Given the description of an element on the screen output the (x, y) to click on. 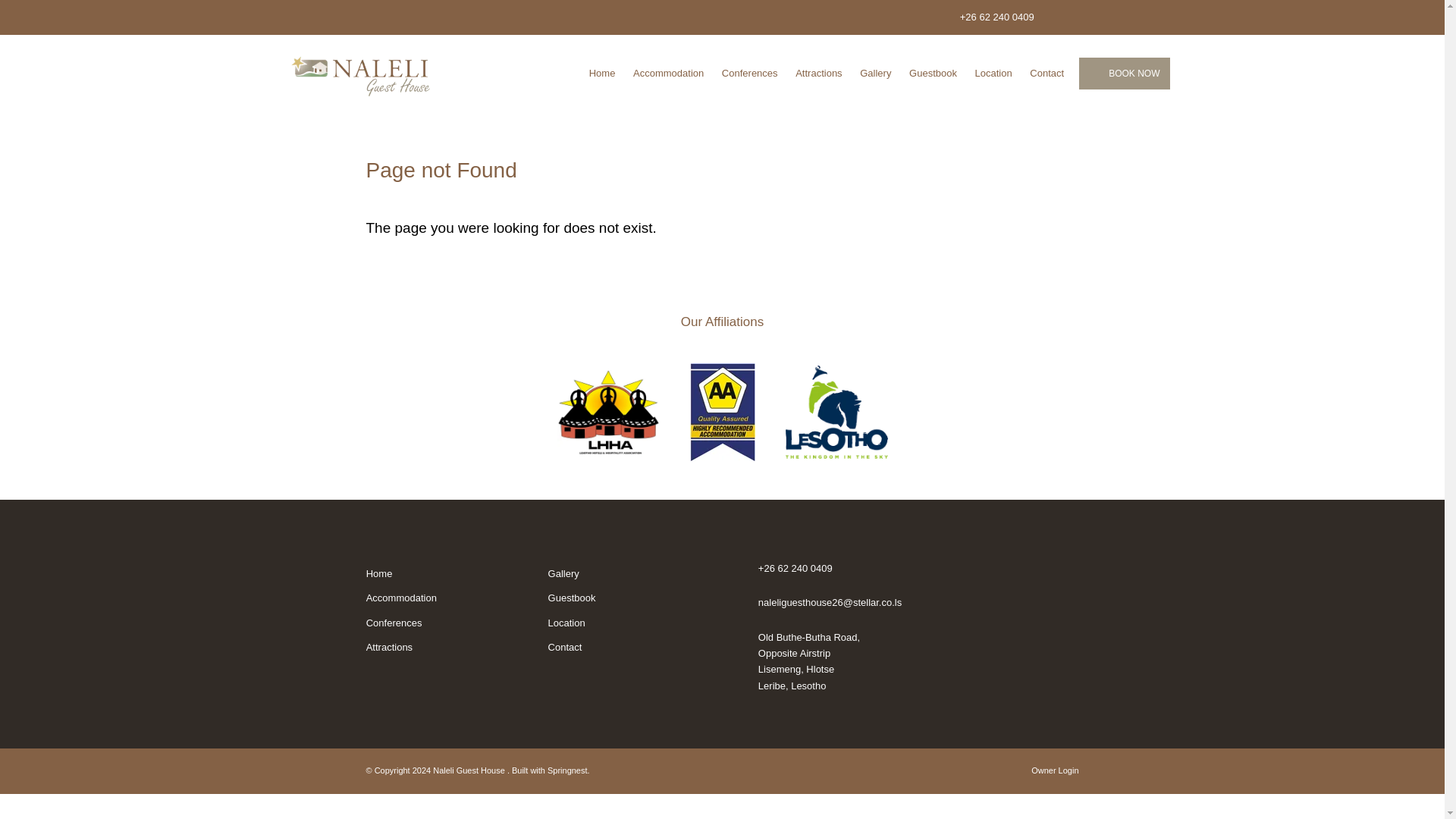
Gallery  (563, 573)
Guestbook  (571, 597)
Attractions  (389, 646)
LHHA (607, 412)
Lesotho Tourism Development Coporation (837, 411)
BOOK NOW (1123, 73)
Home (601, 73)
Naleli Guest House  (360, 71)
